Given the description of an element on the screen output the (x, y) to click on. 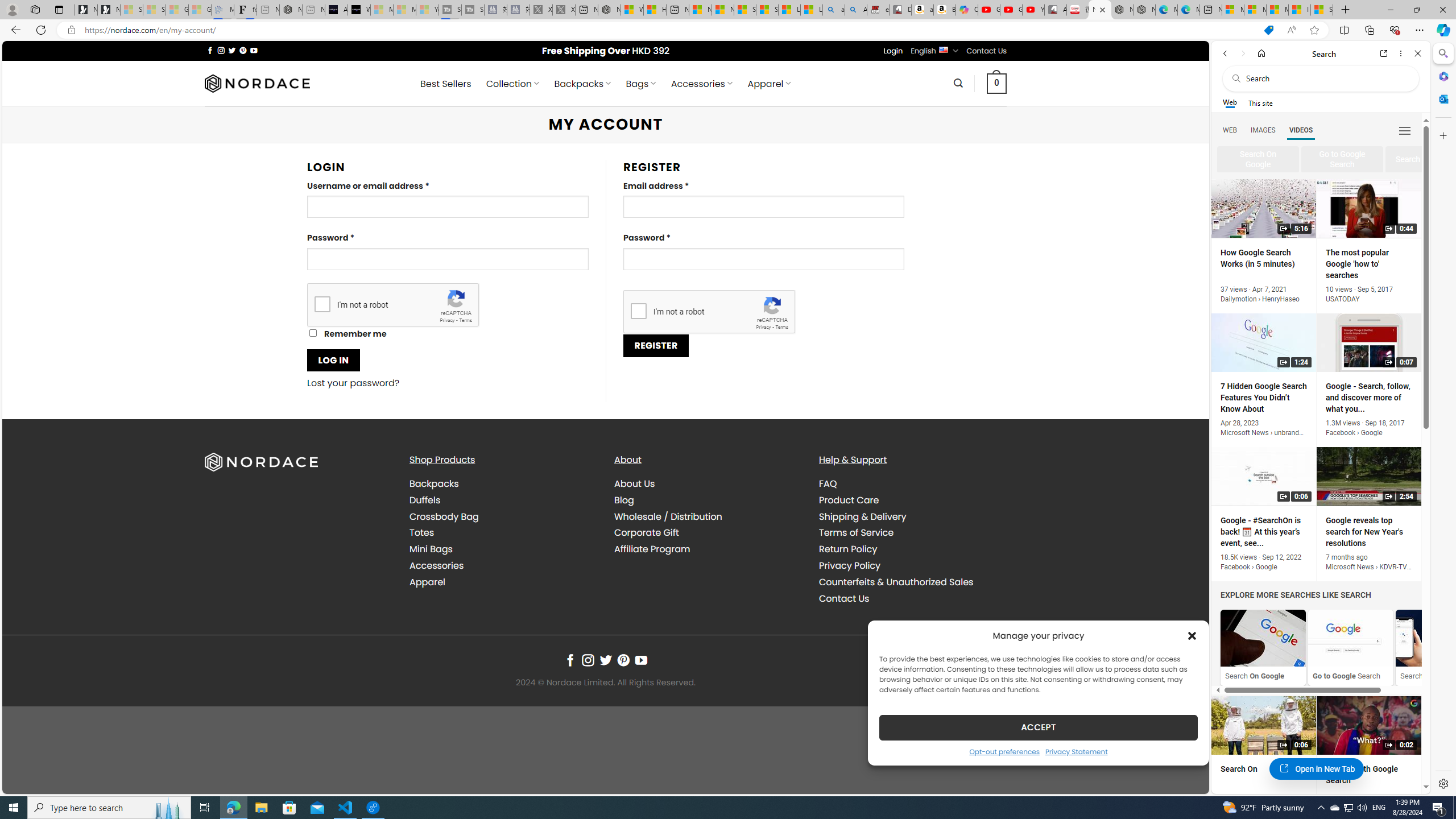
VIDEOS   (1300, 130)
